Given the description of an element on the screen output the (x, y) to click on. 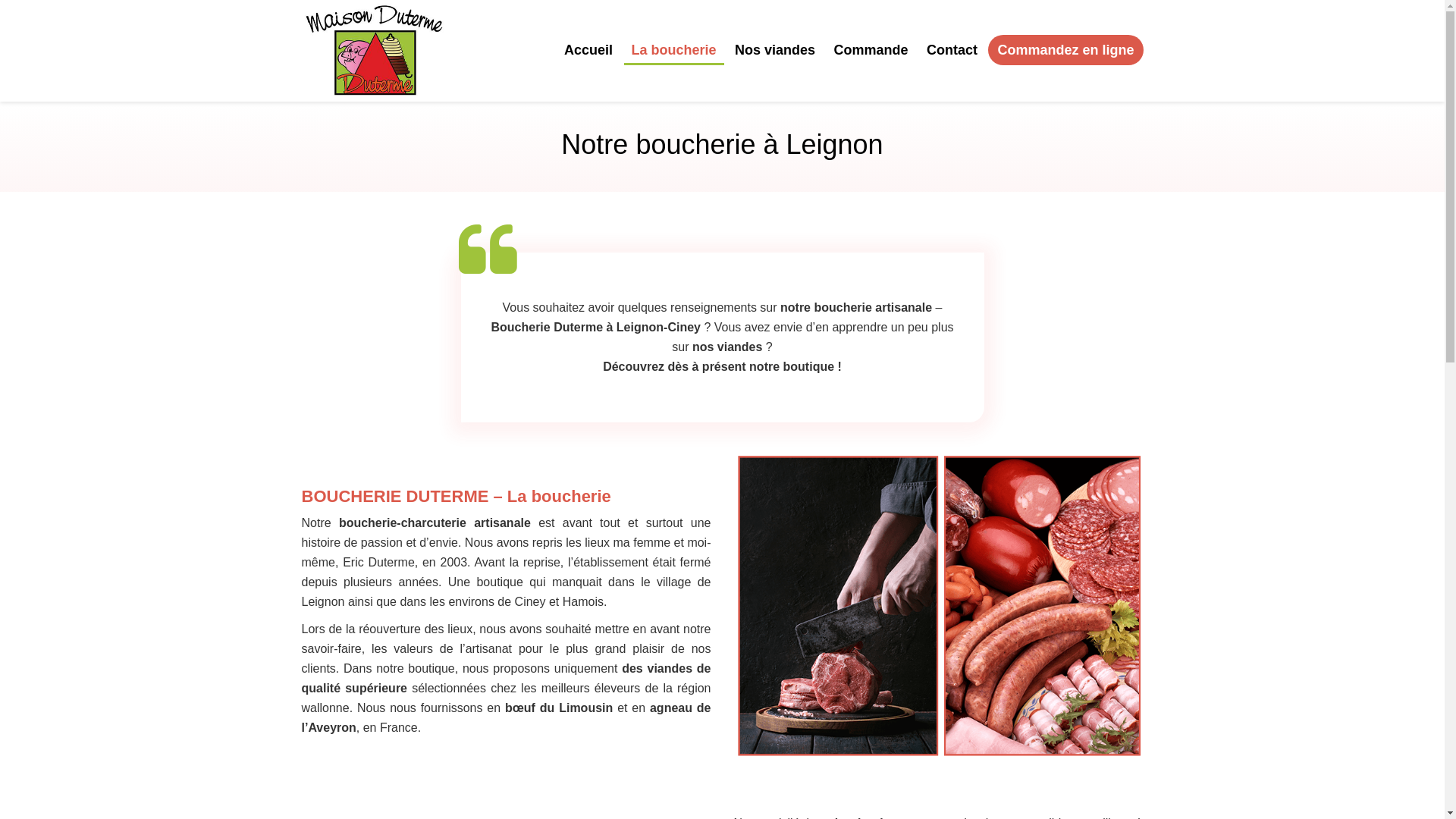
Accueil Element type: text (588, 49)
Commande Element type: text (871, 49)
La boucherie Element type: text (674, 51)
Nos viandes Element type: text (774, 49)
Commandez en ligne Element type: text (1065, 49)
Contact Element type: text (952, 49)
